Given the description of an element on the screen output the (x, y) to click on. 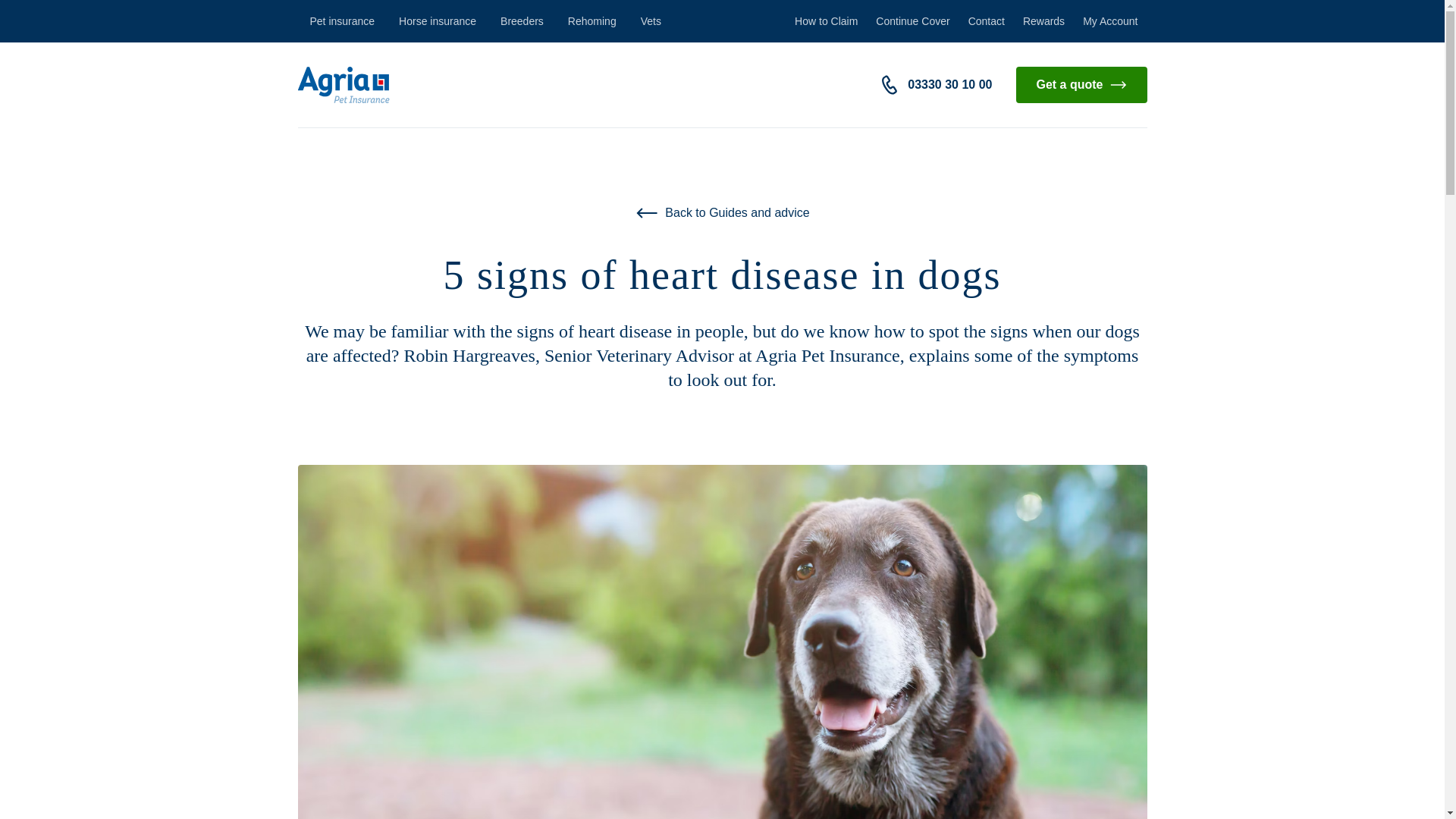
Vets (650, 21)
Continue Cover (912, 21)
Rewards (1043, 21)
Agria (342, 84)
Contact (986, 21)
03330 30 10 00 (949, 85)
Pet insurance (342, 21)
How to Claim (826, 21)
Get a quote (1081, 84)
Back to Guides and advice (721, 212)
